Given the description of an element on the screen output the (x, y) to click on. 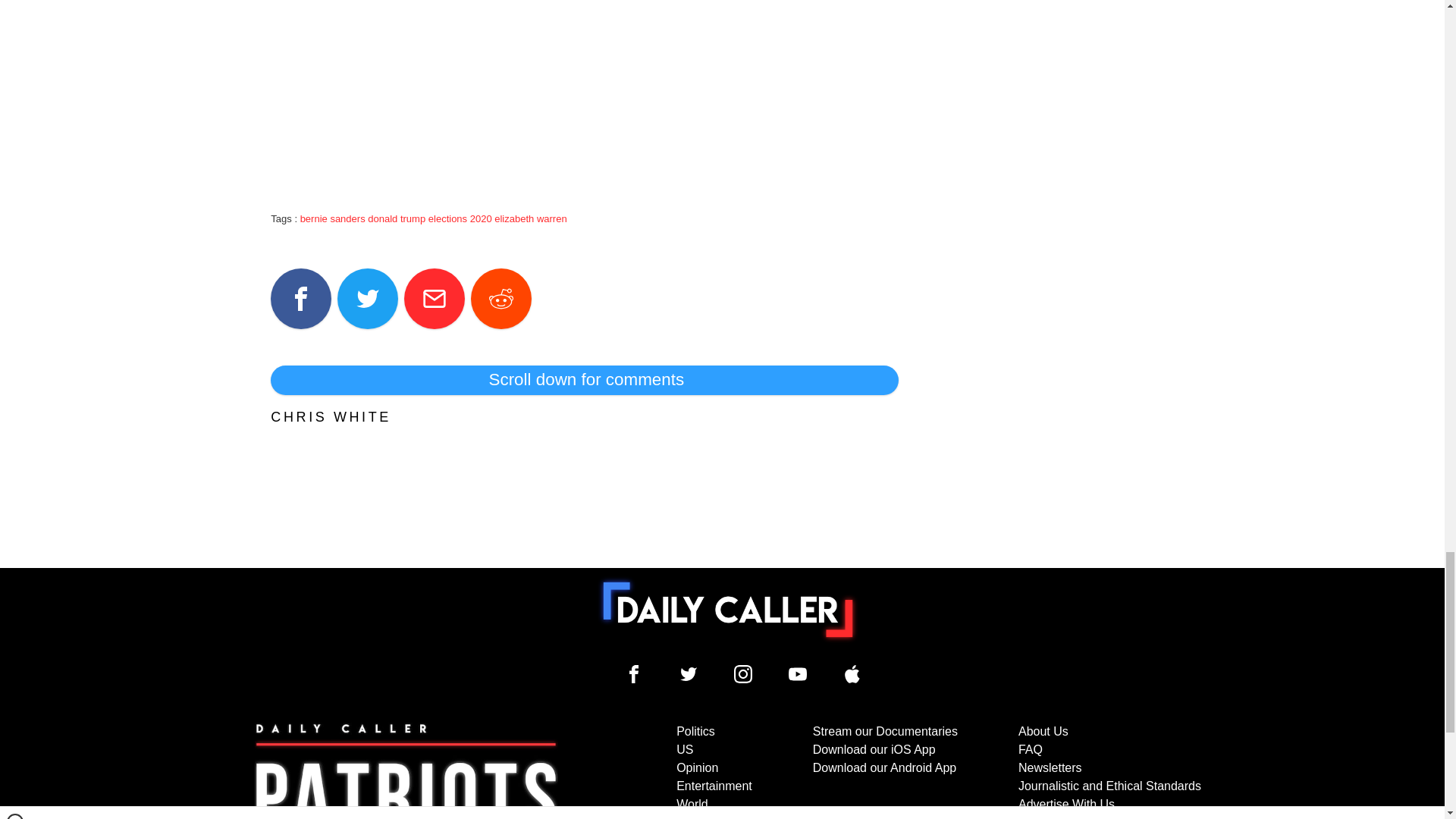
Daily Caller Facebook (633, 674)
Scroll down for comments (584, 379)
Daily Caller YouTube (852, 674)
Subscribe to The Daily Caller (405, 770)
To home page (727, 609)
Daily Caller YouTube (797, 674)
Daily Caller Instagram (742, 674)
Daily Caller Twitter (688, 674)
